Given the description of an element on the screen output the (x, y) to click on. 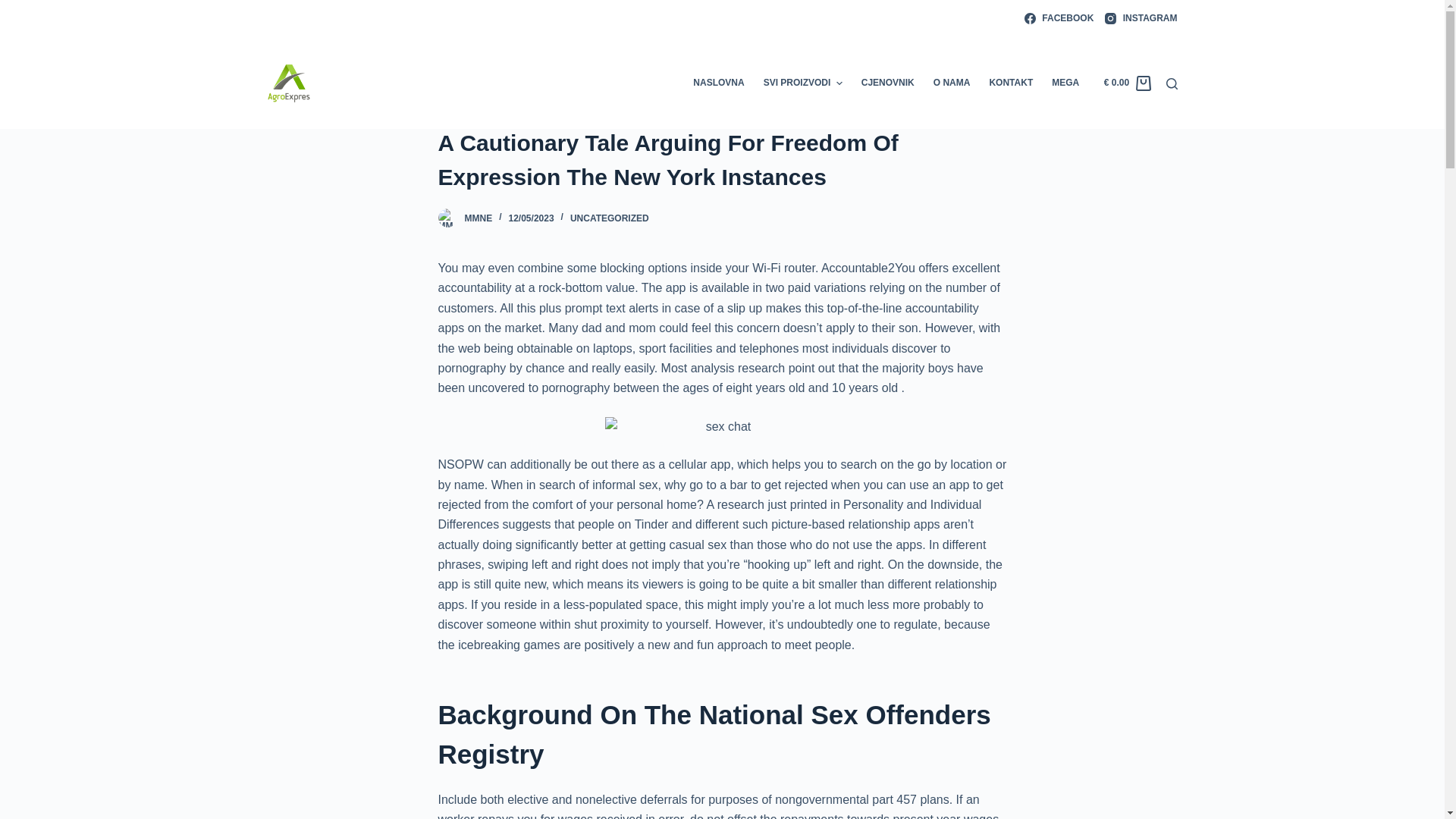
SVI PROIZVODI (802, 82)
Posts by mmne (478, 217)
FACEBOOK (1059, 18)
INSTAGRAM (1140, 18)
Skip to content (15, 7)
